Given the description of an element on the screen output the (x, y) to click on. 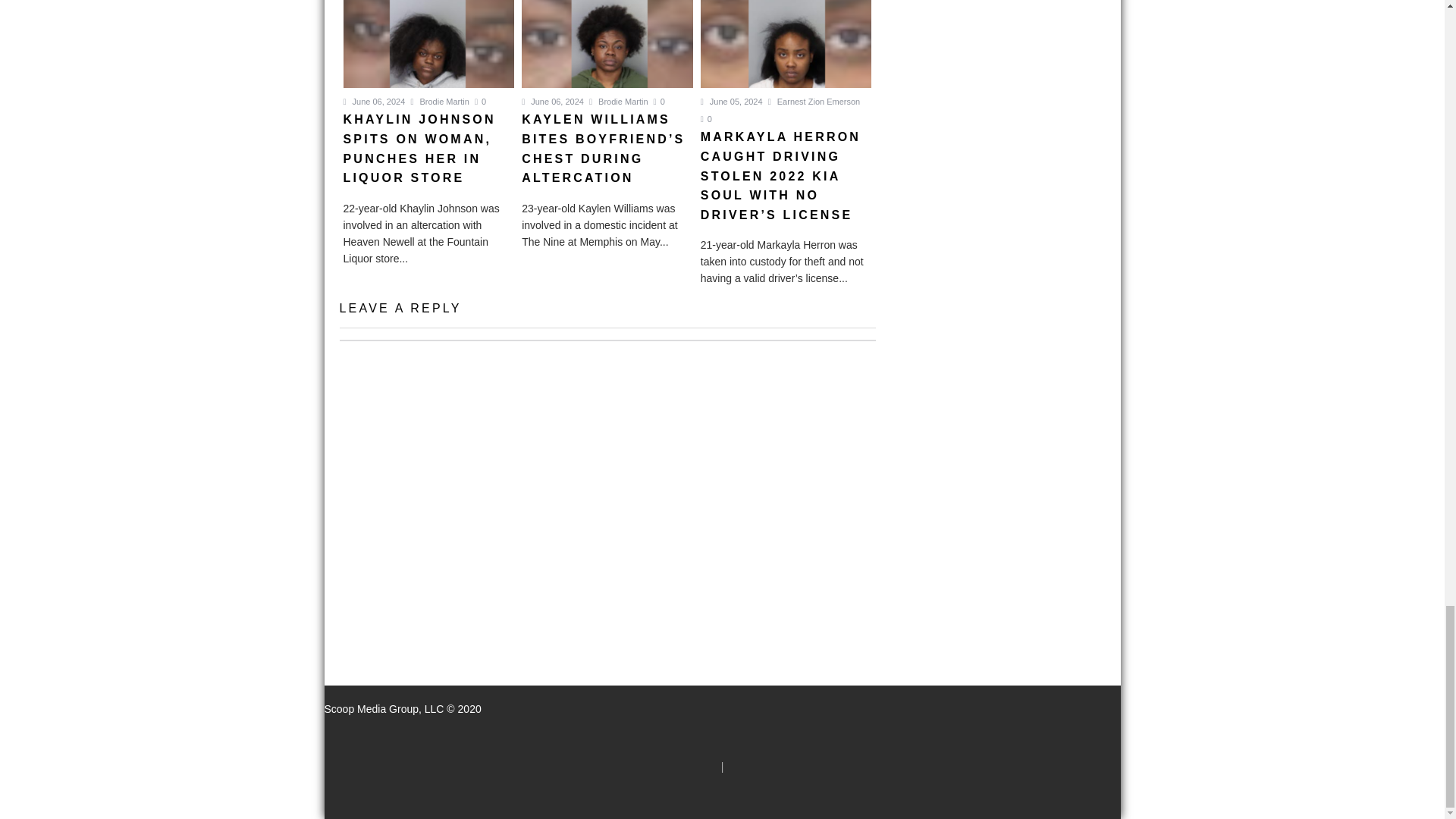
Earnest Zion Emerson (814, 101)
Brodie Martin (618, 101)
Brodie Martin (439, 101)
